Given the description of an element on the screen output the (x, y) to click on. 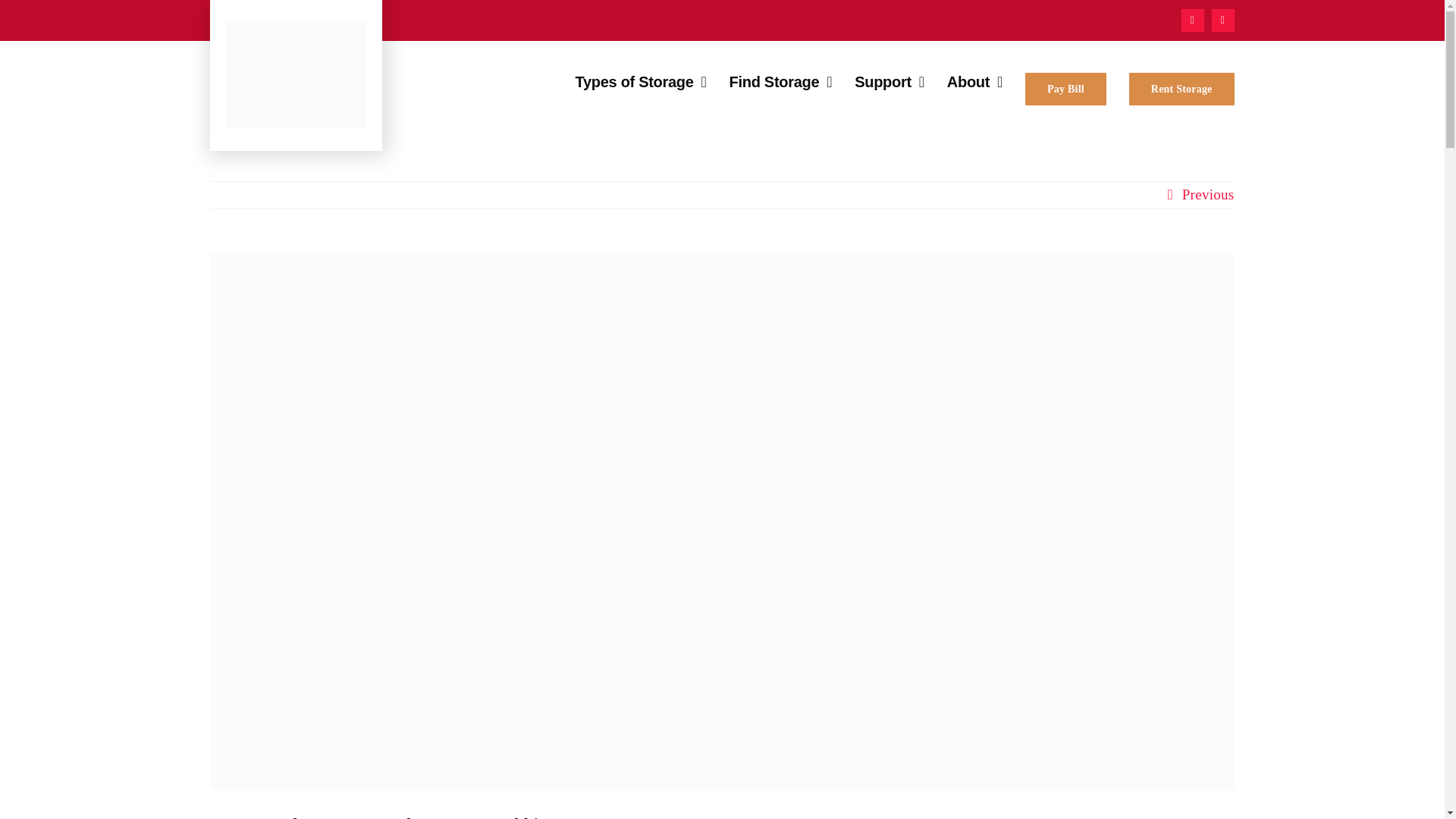
Support (889, 89)
Rent Storage (1181, 89)
Find Storage (780, 89)
Types of Storage (640, 89)
About (975, 89)
Pay Bill (1065, 89)
Previous (1208, 194)
Yelp (1222, 20)
Facebook (1192, 20)
